Given the description of an element on the screen output the (x, y) to click on. 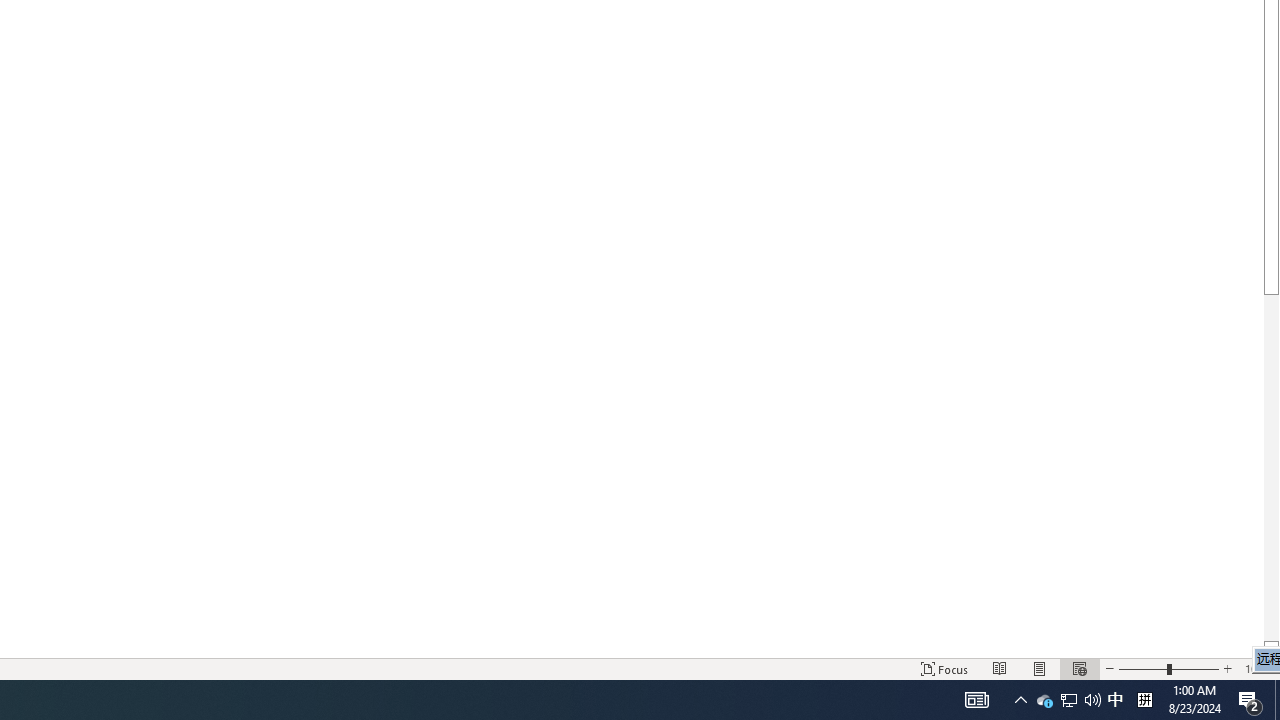
Page down (1271, 467)
Zoom 100% (1258, 668)
Line down (1271, 649)
